Given the description of an element on the screen output the (x, y) to click on. 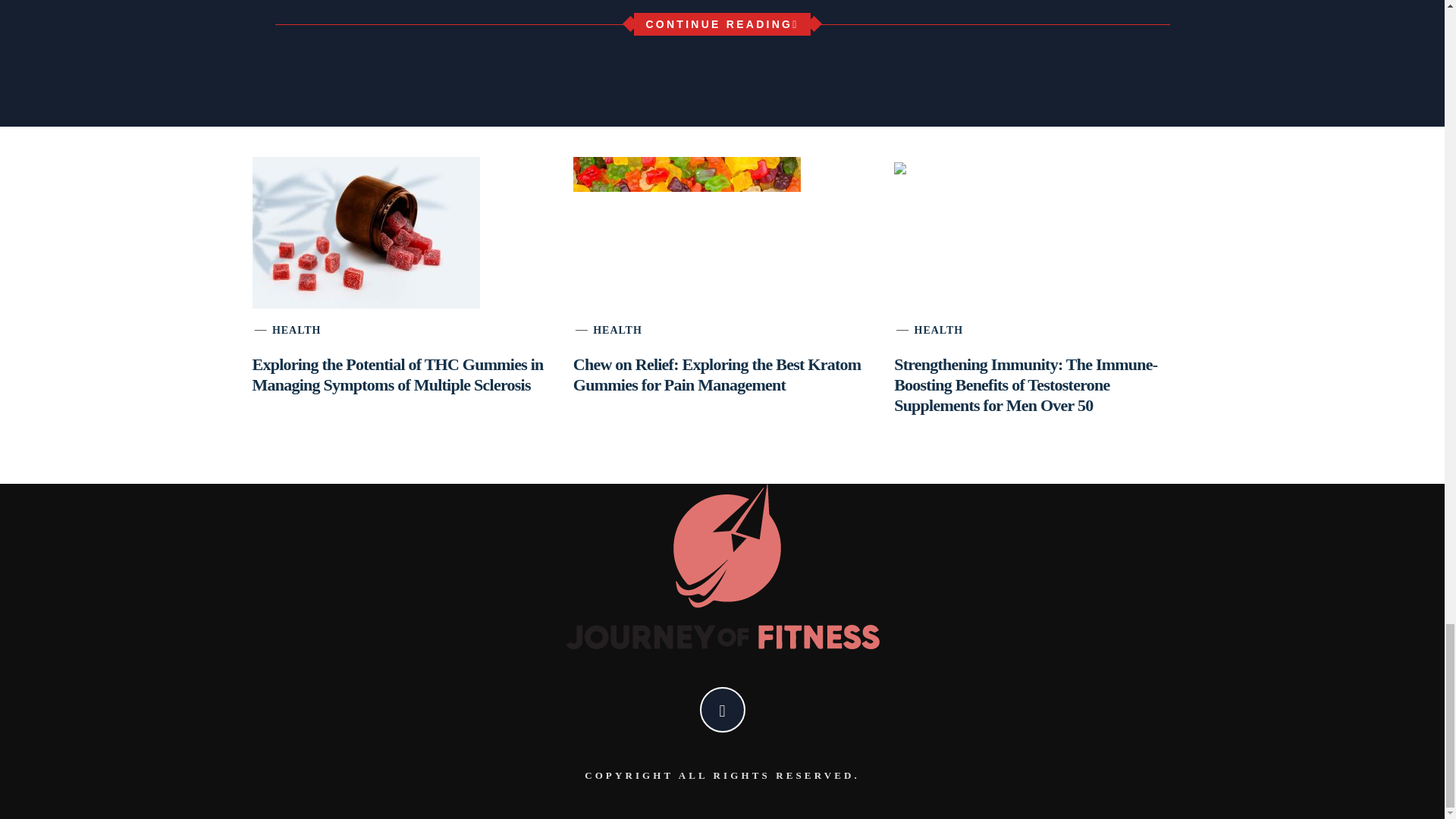
CONTINUE READING (721, 24)
HEALTH (296, 329)
